Given the description of an element on the screen output the (x, y) to click on. 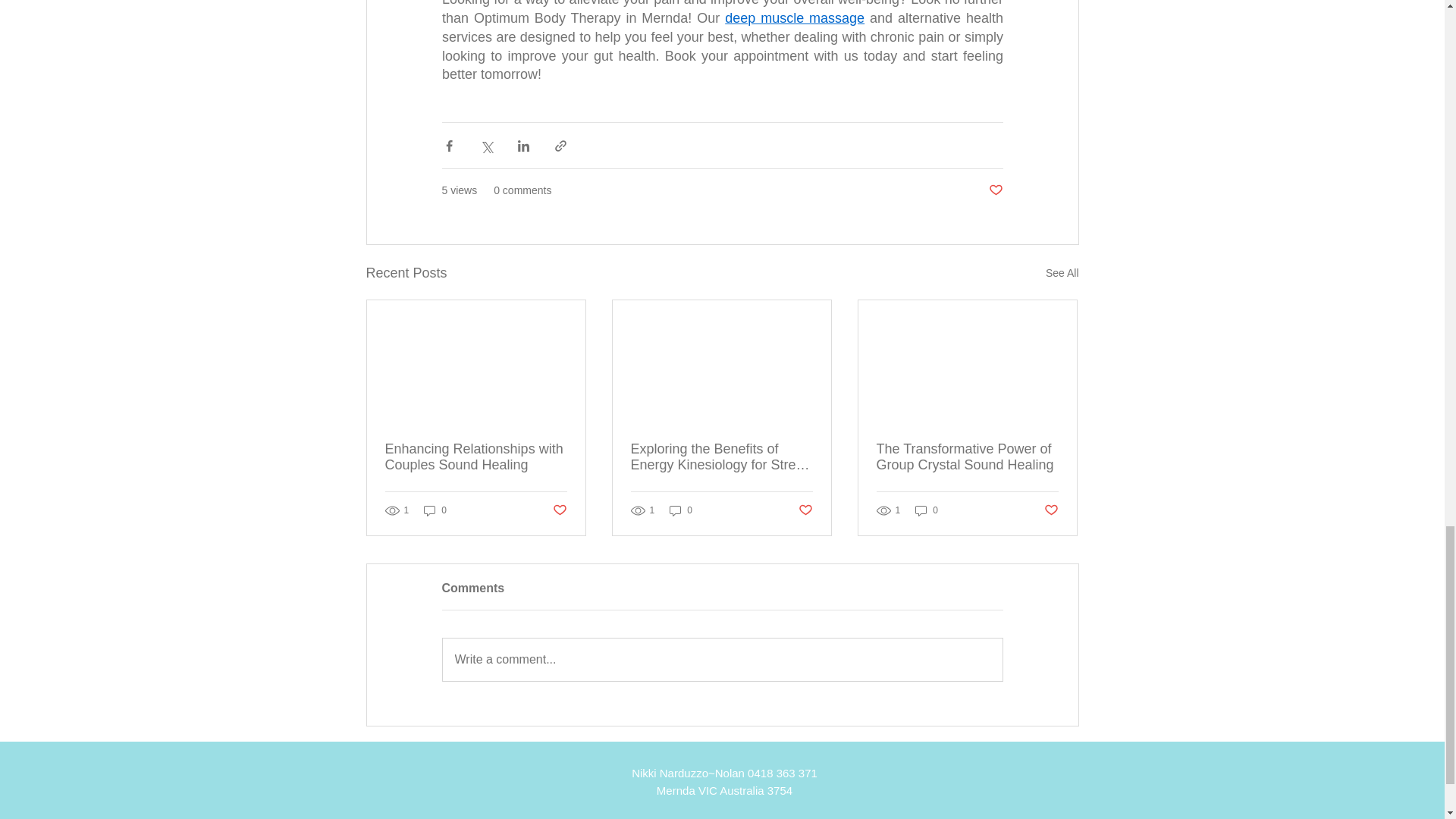
deep muscle massage (794, 17)
